Given the description of an element on the screen output the (x, y) to click on. 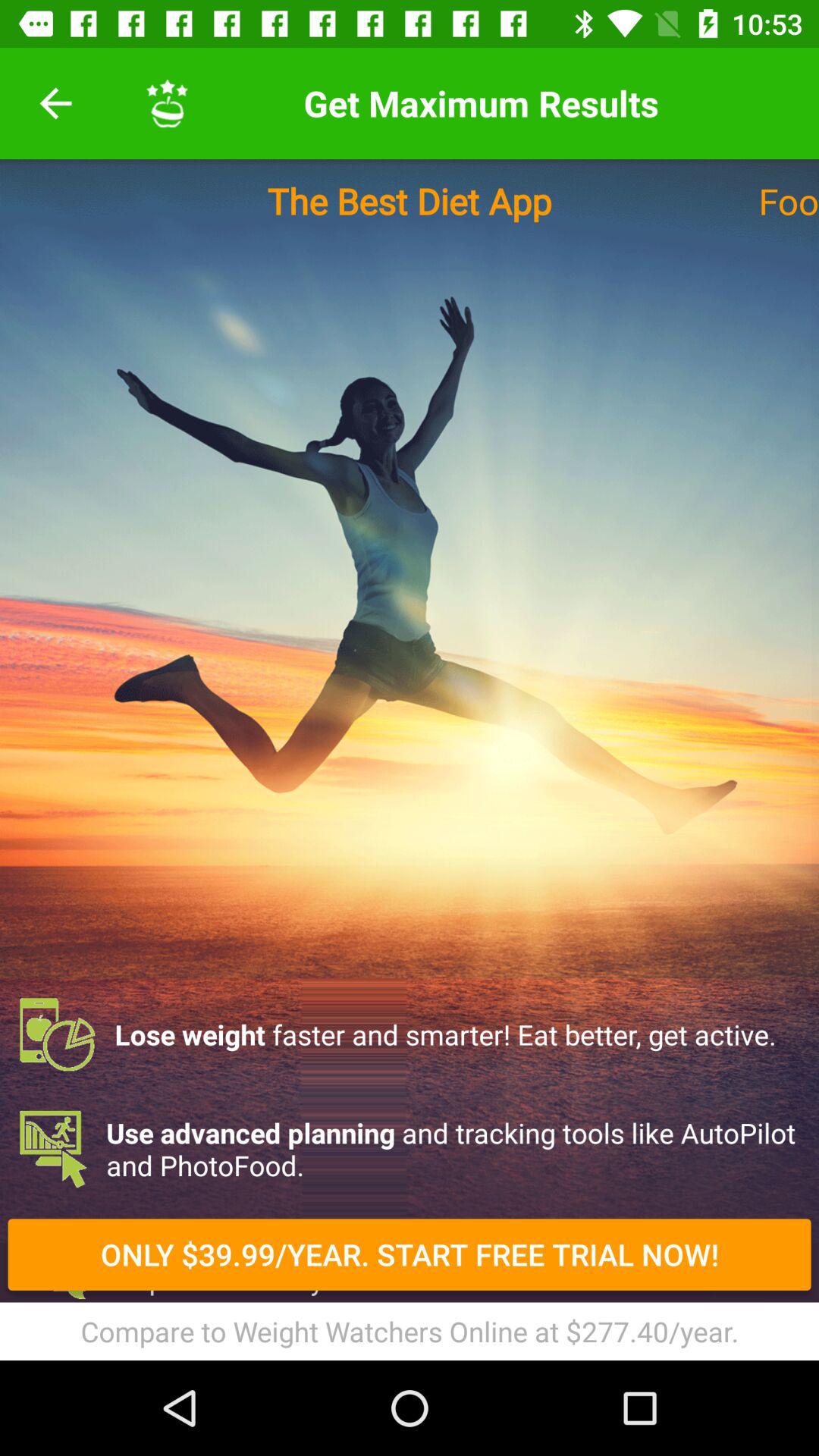
turn off the icon below only 39 99 (409, 1331)
